Given the description of an element on the screen output the (x, y) to click on. 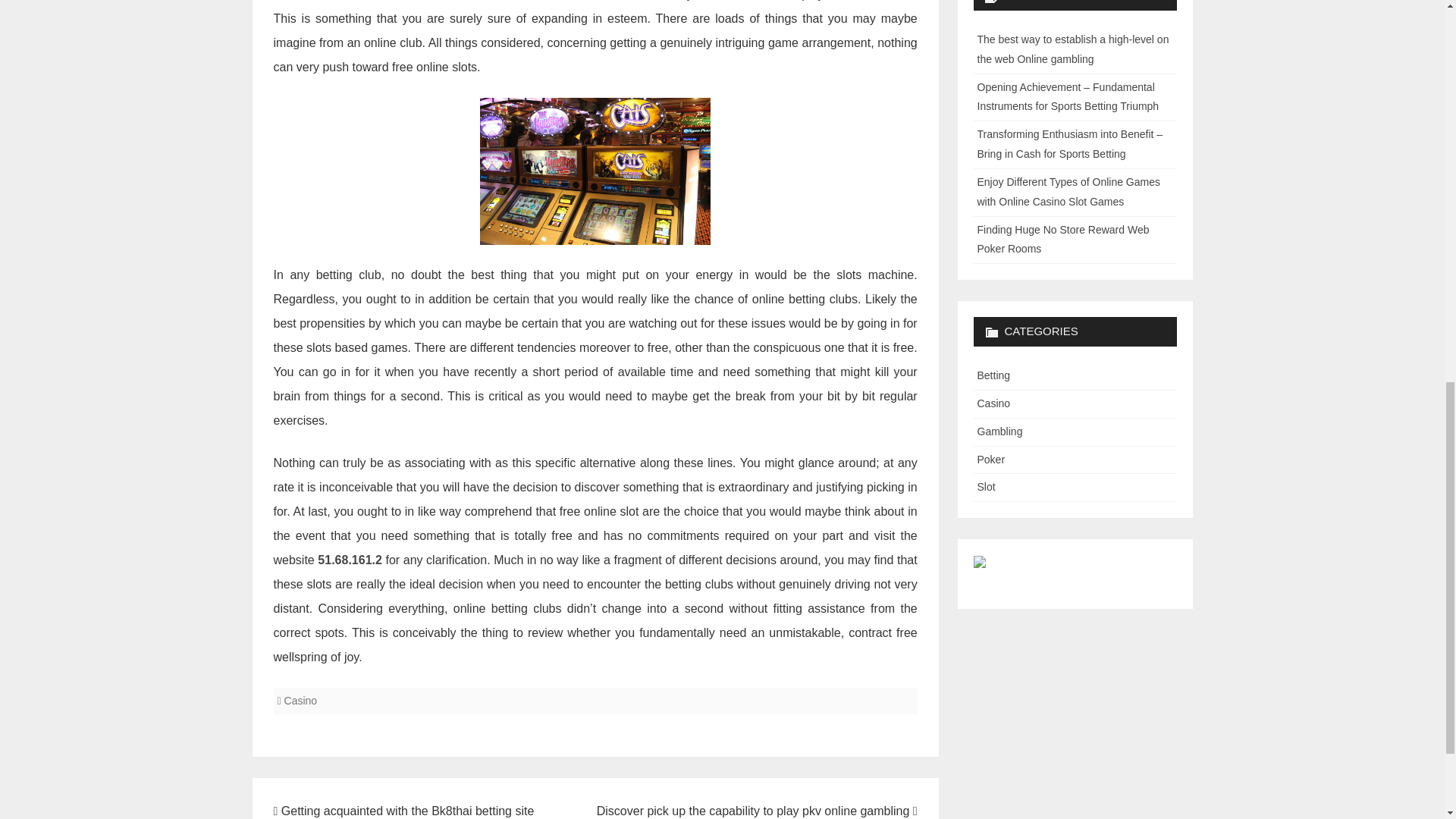
Betting (993, 375)
Casino (300, 700)
Poker (990, 459)
Slot (985, 486)
Gambling (999, 431)
51.68.161.2 (349, 559)
Casino (993, 403)
Finding Huge No Store Reward Web Poker Rooms (1062, 239)
Getting acquainted with the Bk8thai betting site (403, 810)
Discover pick up the capability to play pkv online gambling (756, 810)
